Given the description of an element on the screen output the (x, y) to click on. 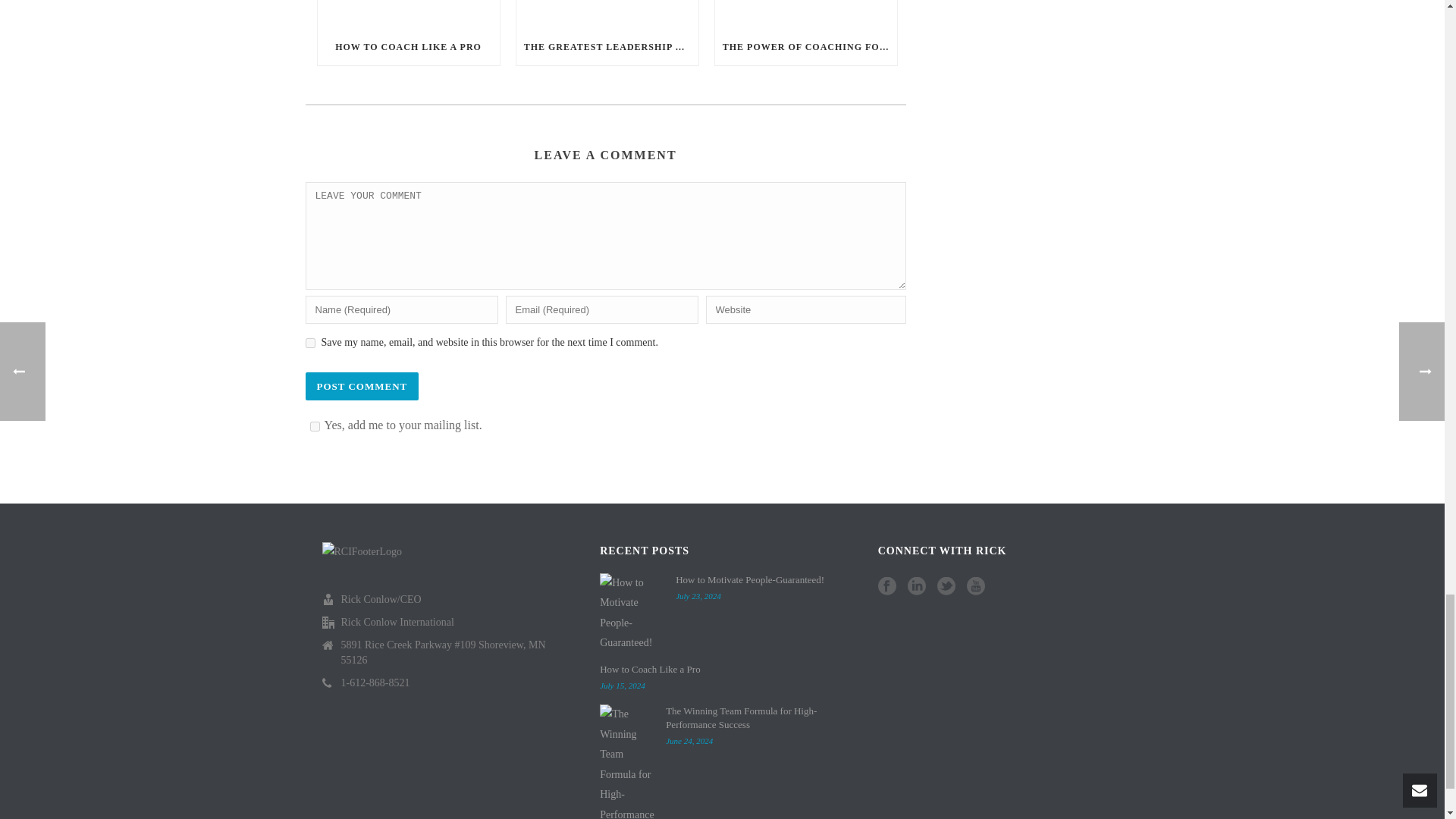
How to Coach Like a Pro (408, 14)
The Greatest Leadership Myth Ever-Debunked! (607, 14)
The Power of Coaching for High Performance (805, 14)
POST COMMENT (361, 386)
1 (313, 426)
yes (309, 343)
